Given the description of an element on the screen output the (x, y) to click on. 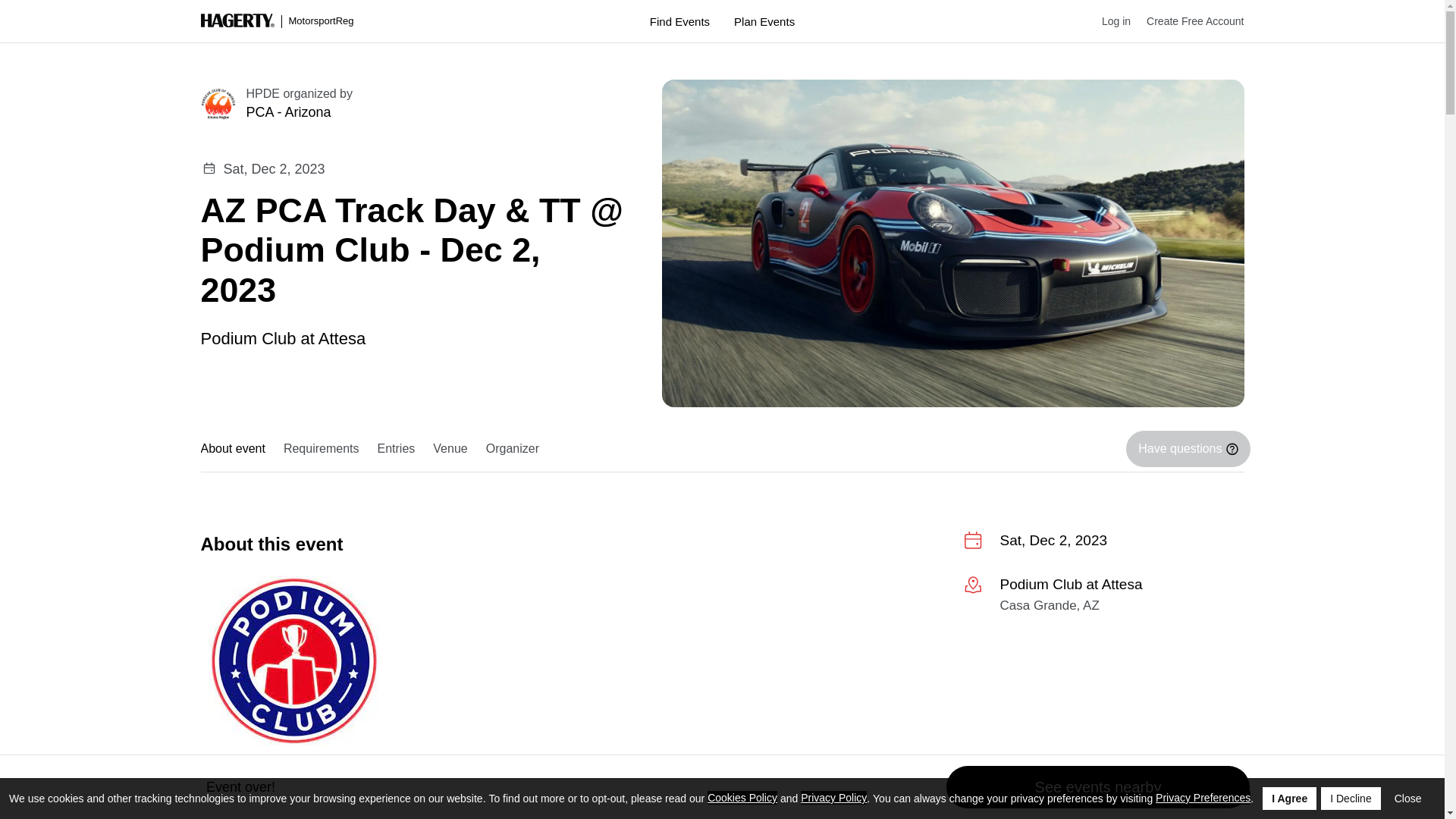
About event (236, 449)
Privacy Preferences (1203, 797)
Close (1408, 798)
Requirements (321, 449)
I Decline (1350, 798)
PCA - Arizona (435, 112)
Organizer (512, 449)
Find Events (679, 21)
Cookies Policy (742, 797)
HPDE (262, 92)
Privacy Policy (833, 797)
I Agree (1289, 798)
Podium Club at Attesa (282, 336)
MotorsportReg (276, 21)
Plan Events (764, 21)
